Given the description of an element on the screen output the (x, y) to click on. 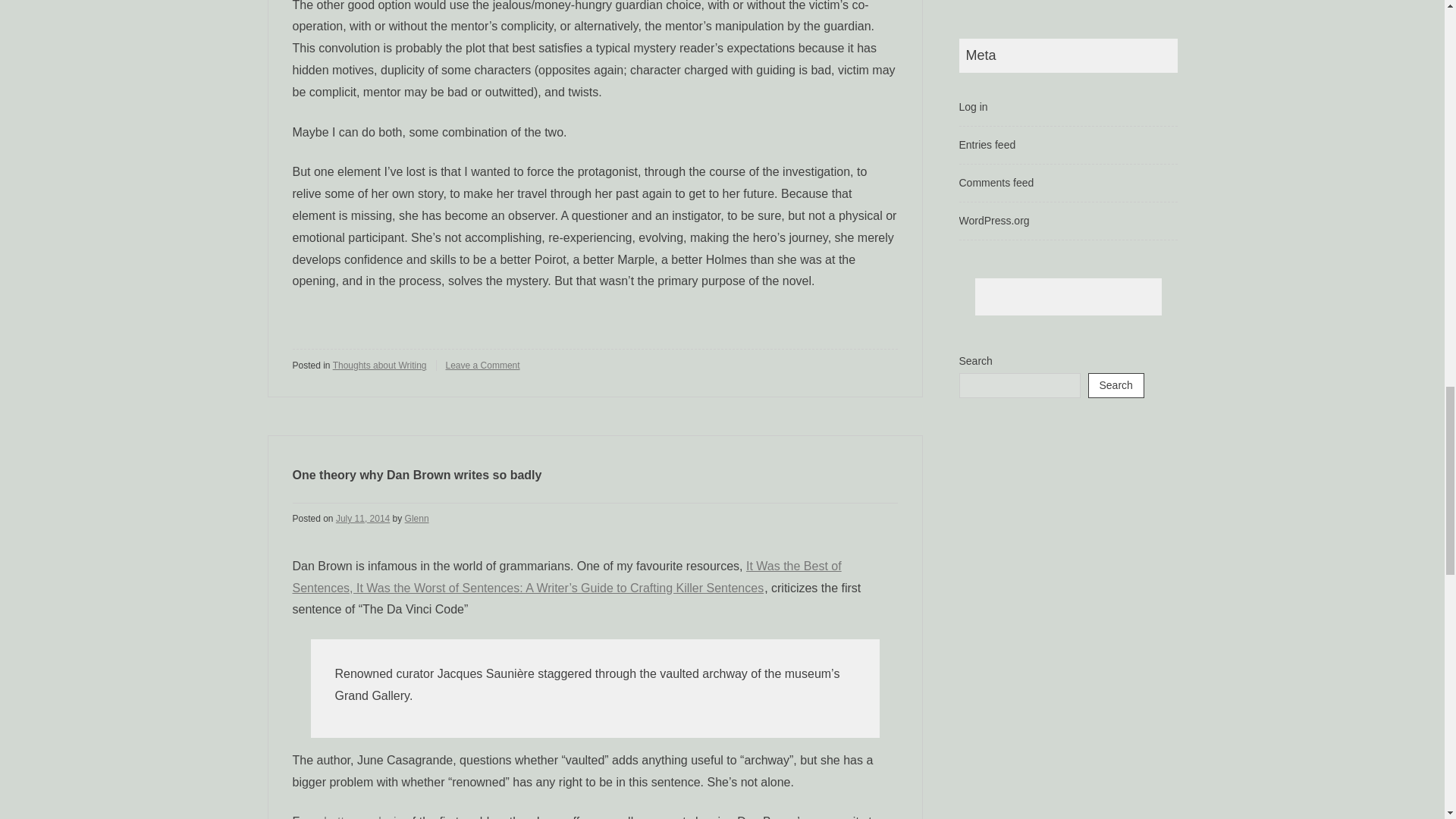
Thoughts about Writing (379, 365)
One theory why Dan Brown writes so badly (416, 474)
Glenn (416, 518)
The Dan Brown Code (362, 816)
July 11, 2014 (363, 518)
better analysis (362, 816)
